Given the description of an element on the screen output the (x, y) to click on. 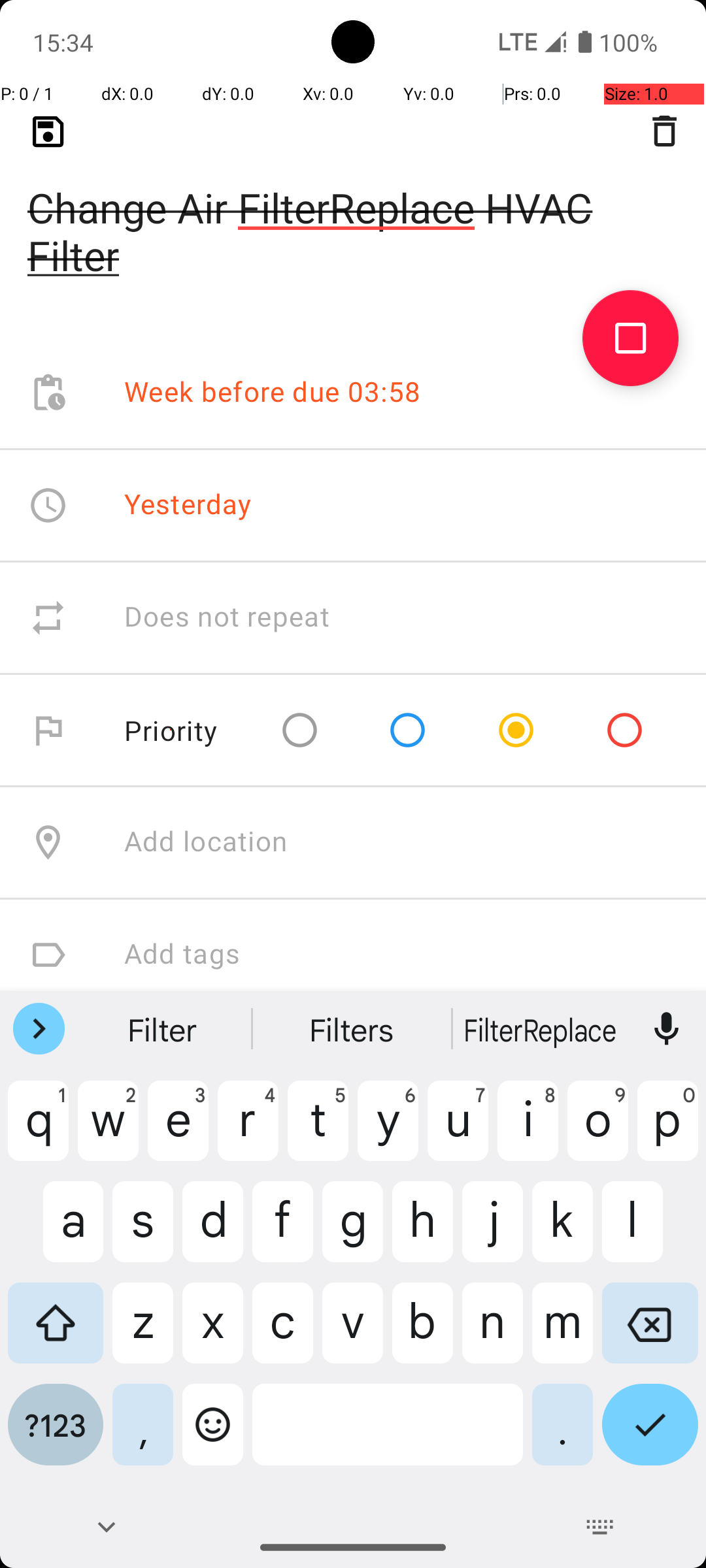
Change Air FilterReplace HVAC Filter Element type: android.widget.EditText (353, 210)
Week before due 03:58 Element type: android.widget.TextView (272, 392)
Filters Element type: android.widget.FrameLayout (352, 1028)
FilterReplace Element type: android.widget.FrameLayout (541, 1028)
